Given the description of an element on the screen output the (x, y) to click on. 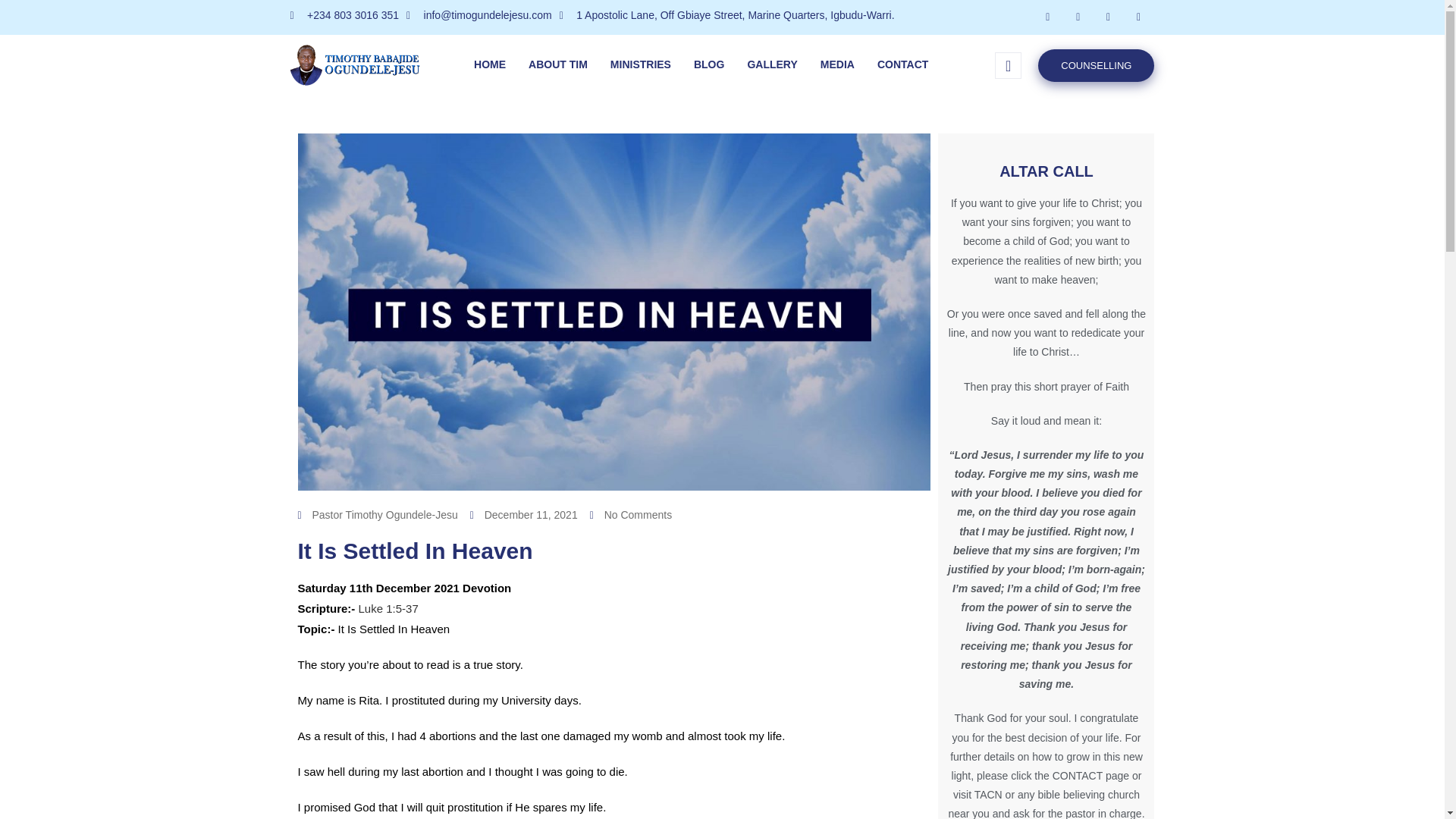
Luke 1:5-37 (388, 608)
No Comments (630, 515)
CONTACT (902, 65)
GALLERY (771, 65)
COUNSELLING (1096, 64)
MEDIA (837, 65)
Pastor Timothy Ogundele-Jesu (377, 515)
ABOUT TIM (557, 65)
HOME (489, 65)
December 11, 2021 (524, 515)
MINISTRIES (640, 65)
